Given the description of an element on the screen output the (x, y) to click on. 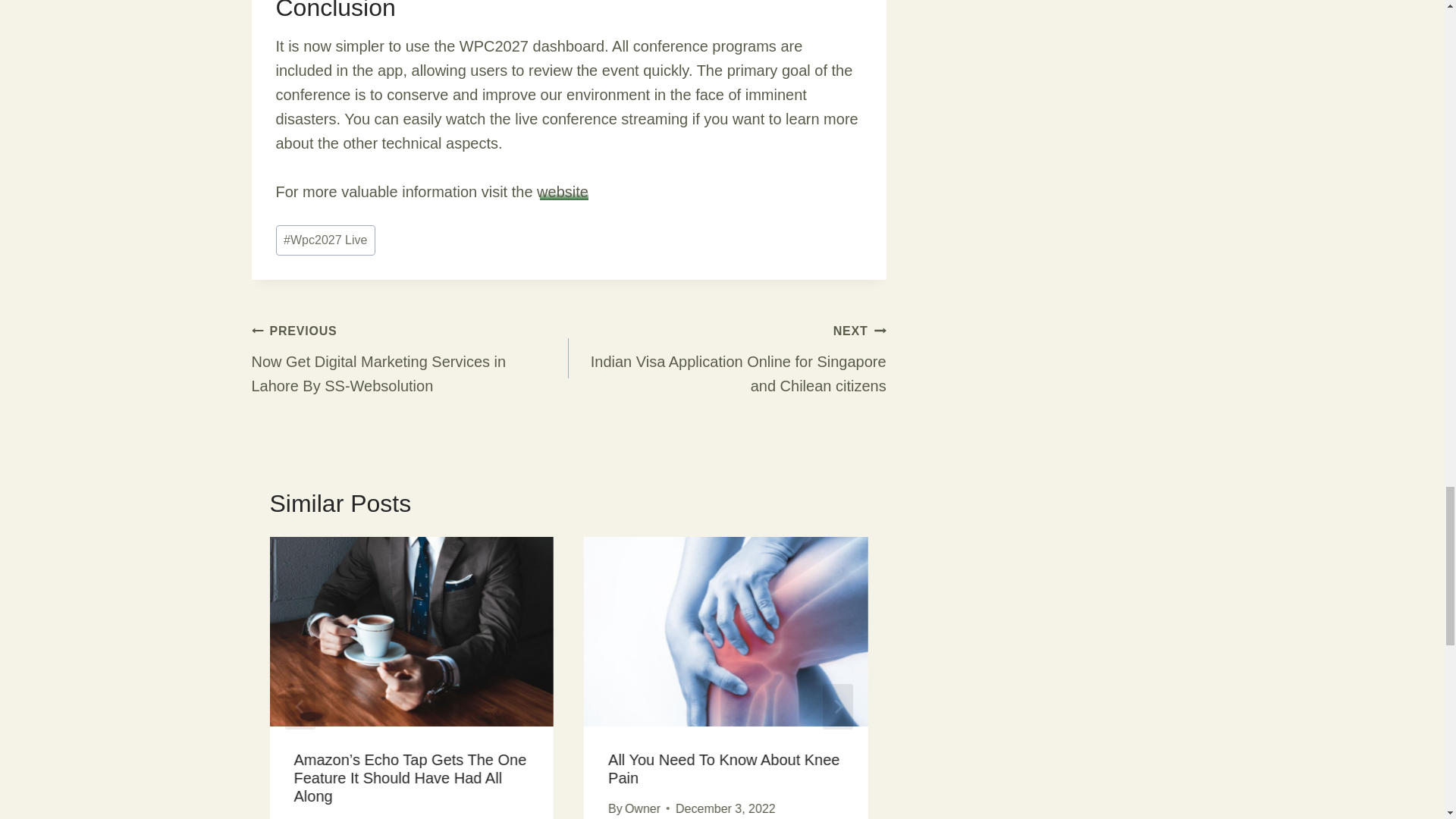
website (562, 191)
Wpc2027 Live (325, 240)
